Given the description of an element on the screen output the (x, y) to click on. 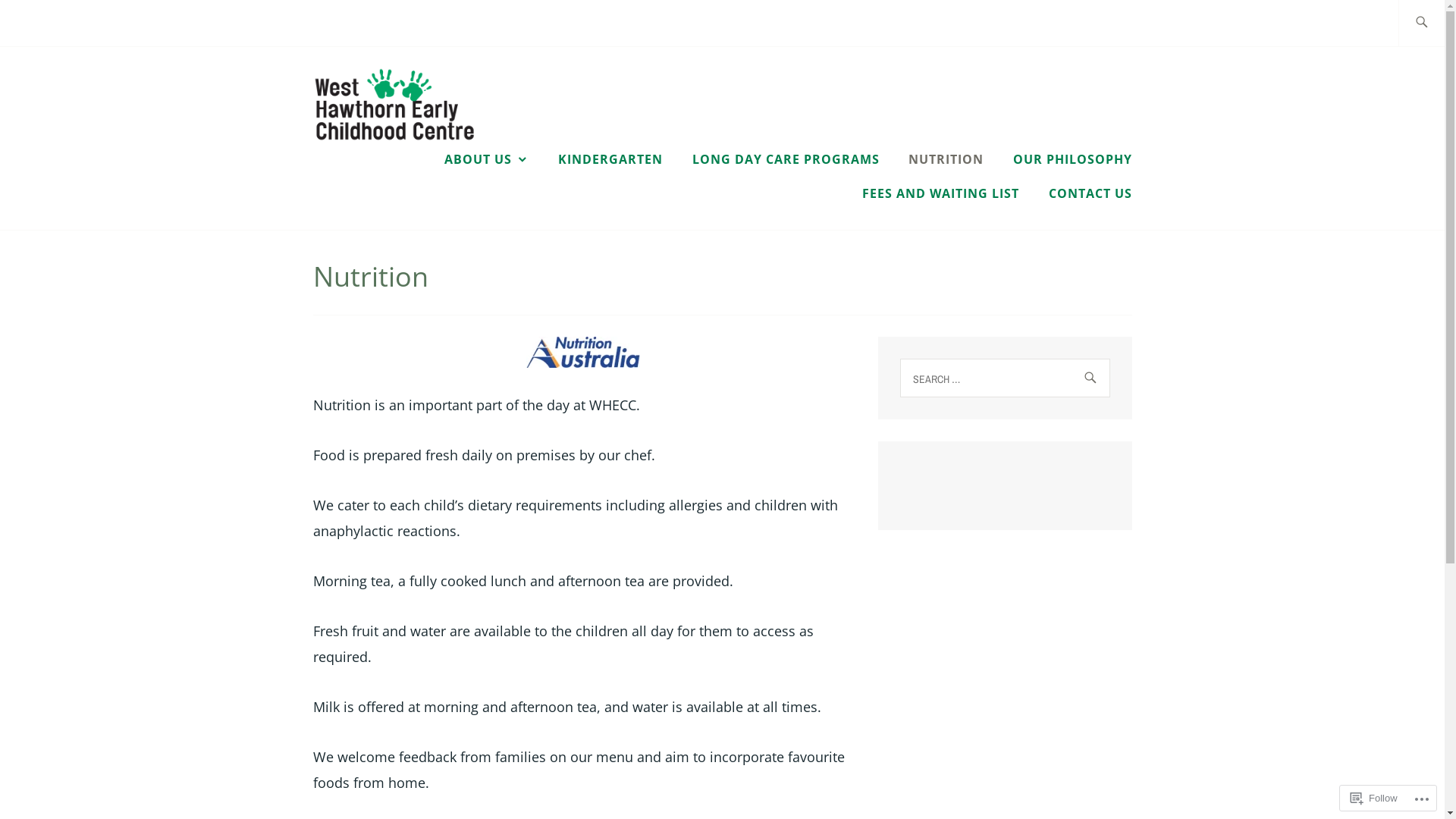
KINDERGARTEN Element type: text (610, 158)
OUR PHILOSOPHY Element type: text (1072, 158)
NUTRITION Element type: text (945, 158)
Search Element type: text (45, 21)
WEST HAWTHORN EARLY CHILDHOOD CENTRE AND KINDERGARTEN Element type: text (833, 145)
FEES AND WAITING LIST Element type: text (940, 193)
Follow Element type: text (1373, 797)
Search for: Element type: hover (1004, 377)
ABOUT US Element type: text (486, 158)
CONTACT US Element type: text (1089, 193)
LONG DAY CARE PROGRAMS Element type: text (785, 158)
Search for: Element type: hover (1438, 23)
